Given the description of an element on the screen output the (x, y) to click on. 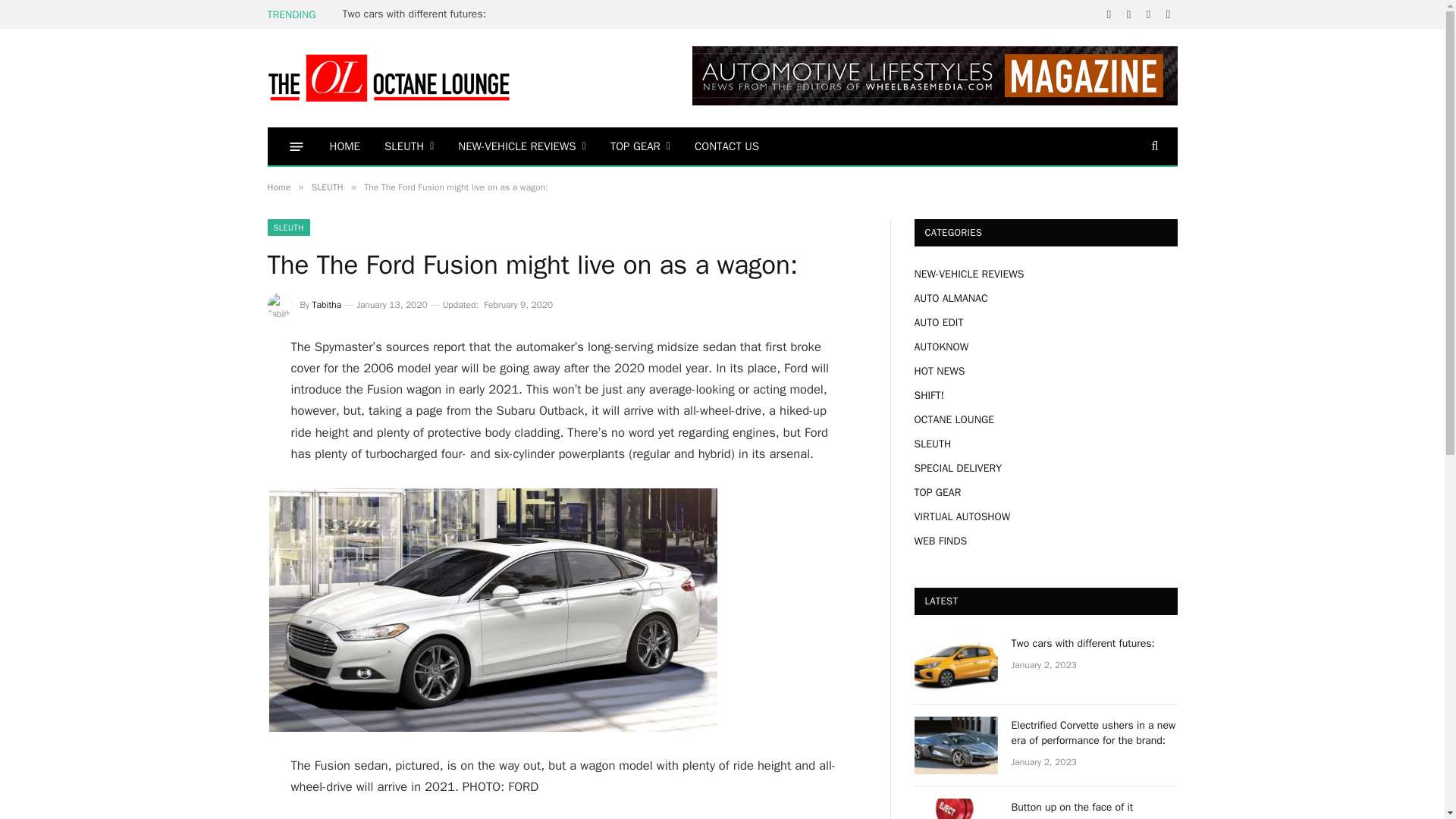
Two cars with different futures: (417, 14)
HOME (344, 146)
The Octane Lounge (387, 77)
NEW-VEHICLE REVIEWS (520, 146)
SLEUTH (408, 146)
